Given the description of an element on the screen output the (x, y) to click on. 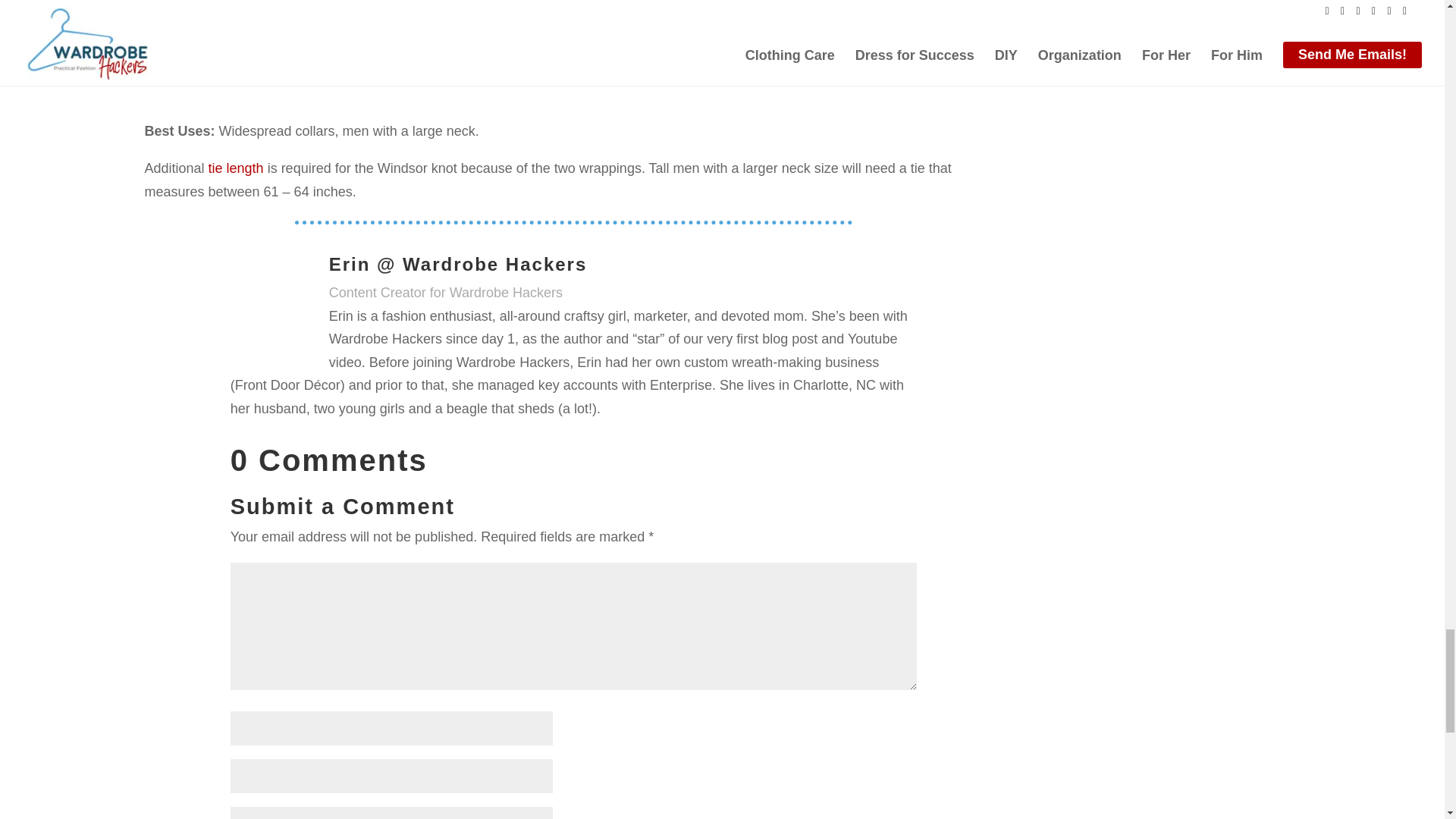
tie length (235, 168)
